Given the description of an element on the screen output the (x, y) to click on. 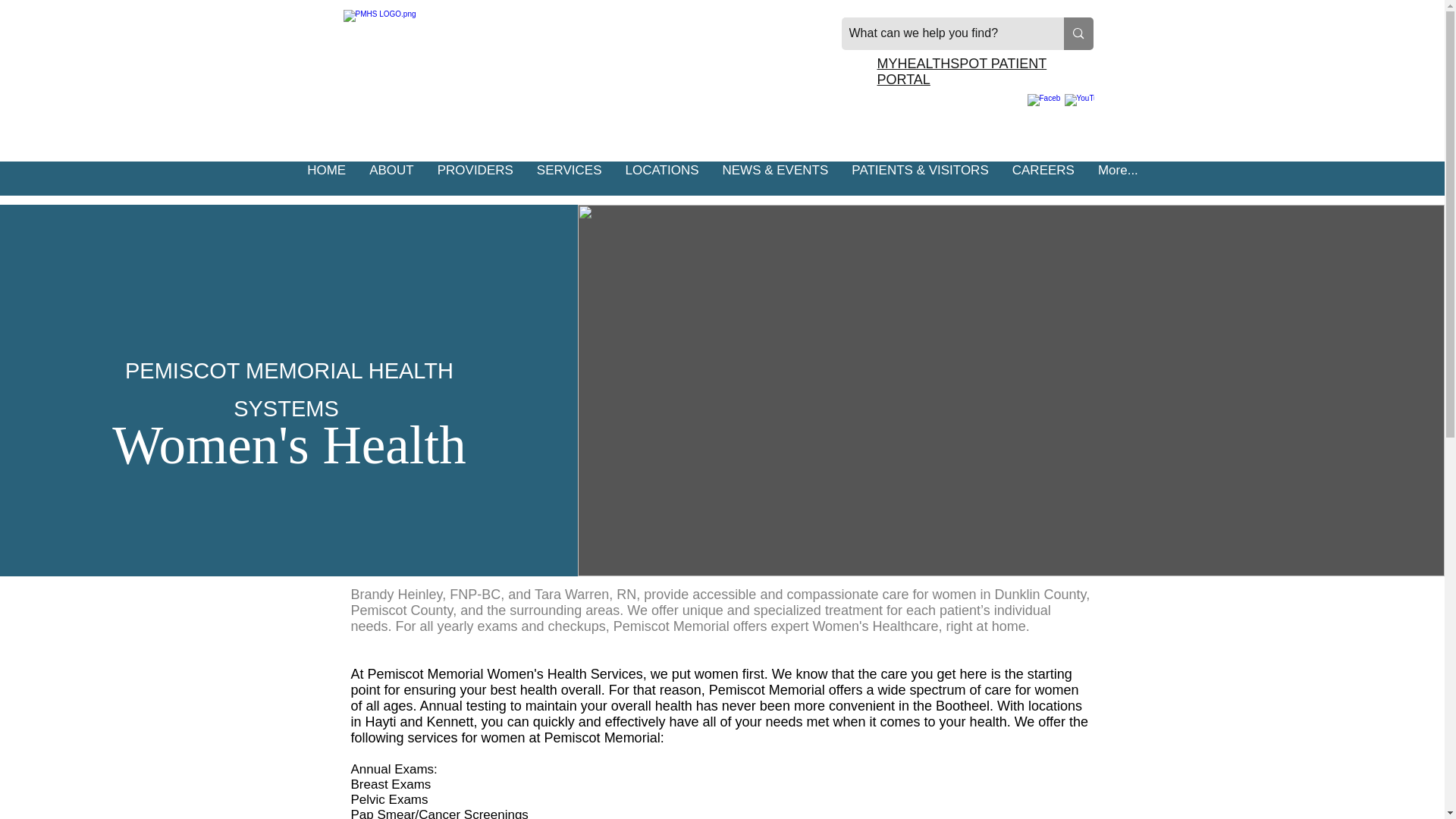
MYHEALTHSPOT PATIENT PORTAL (961, 71)
PROVIDERS (474, 178)
HOME (325, 178)
ABOUT (390, 178)
LOCATIONS (661, 178)
SERVICES (568, 178)
